Given the description of an element on the screen output the (x, y) to click on. 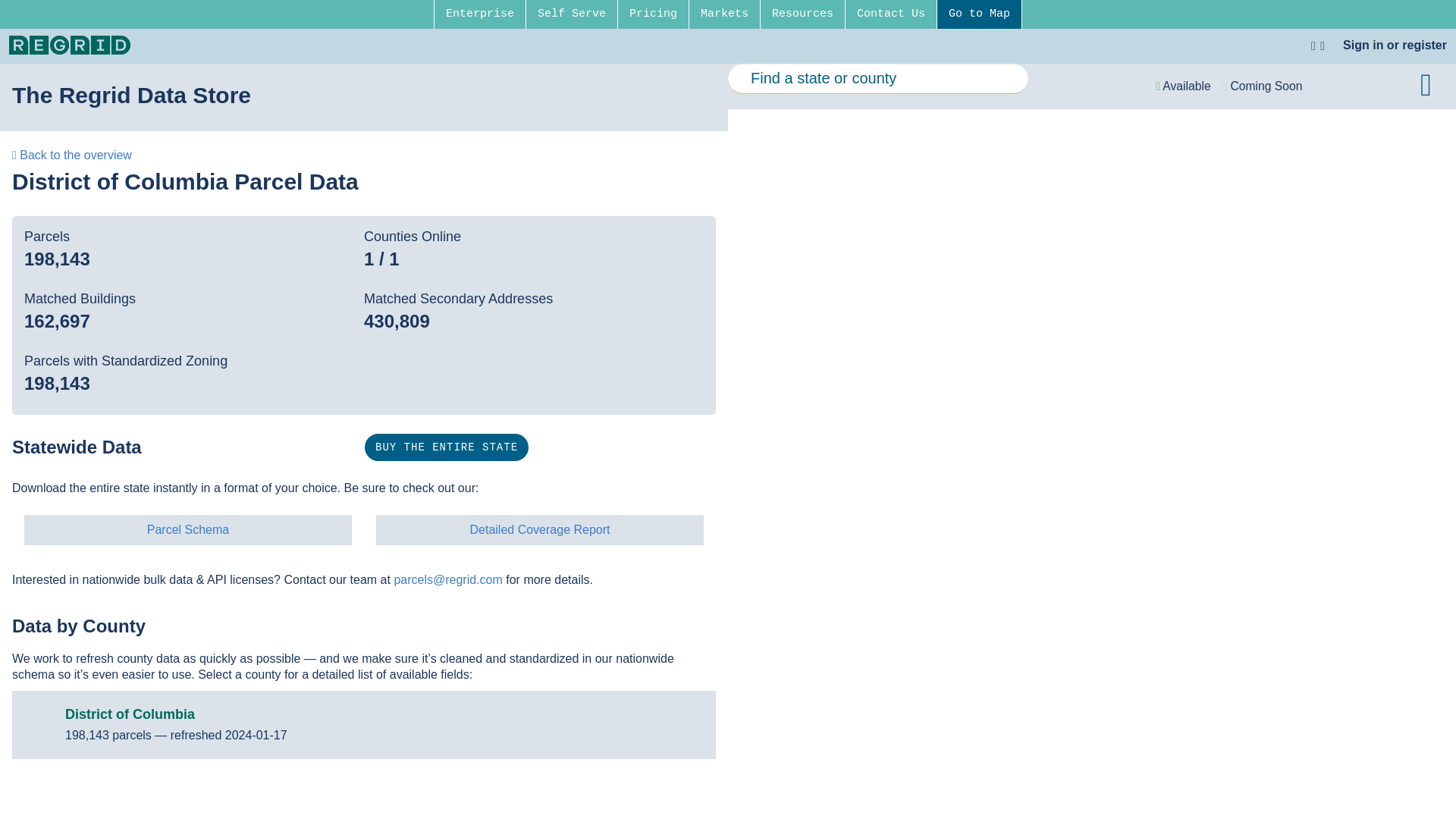
Enterprise (479, 14)
Self Serve (571, 14)
Pricing (652, 14)
Contact Us (890, 14)
Markets (724, 14)
Resources (802, 14)
